Given the description of an element on the screen output the (x, y) to click on. 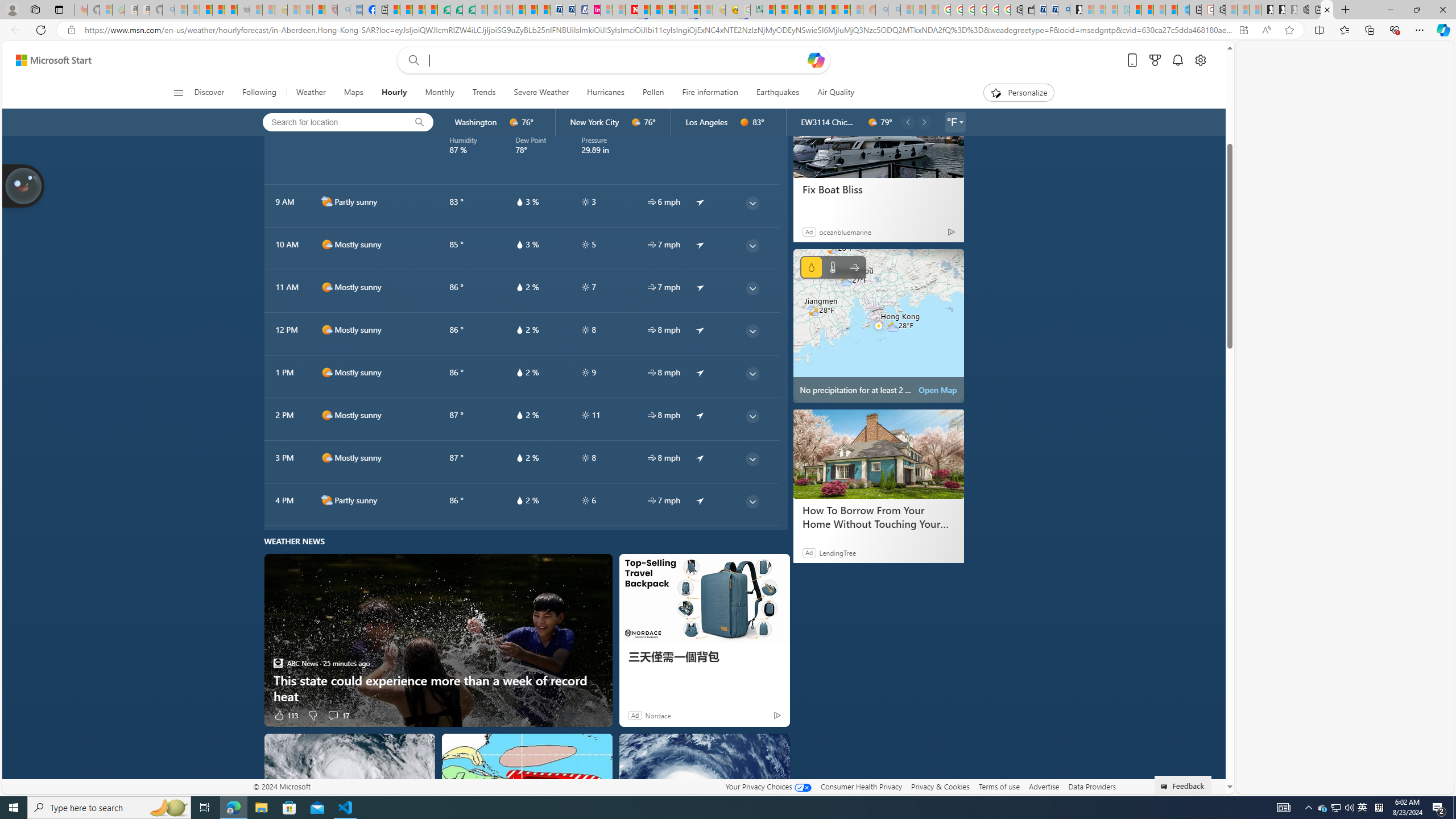
Jobs - lastminute.com Investor Portal (593, 9)
Air Quality (835, 92)
Trends (484, 92)
Wallet (1028, 9)
